Given the description of an element on the screen output the (x, y) to click on. 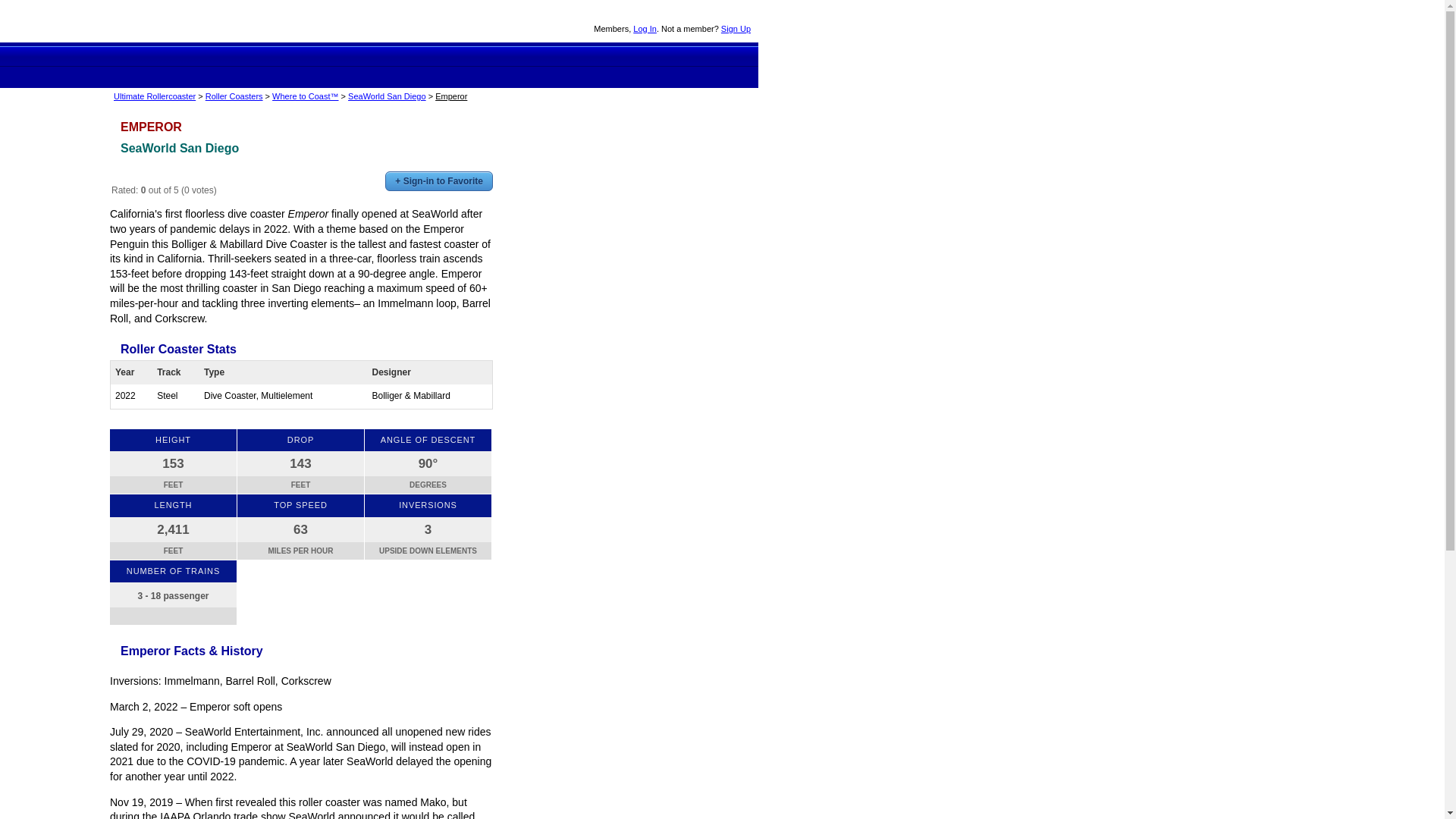
Discussion Forums (454, 55)
SeaWorld San Diego (179, 147)
Log In (644, 28)
Thrill Rides (346, 55)
SeaWorld San Diego (386, 95)
4 out of 5 (151, 176)
News (509, 55)
5 out of 5 (162, 176)
4 (151, 176)
3 out of 5 (139, 176)
